Given the description of an element on the screen output the (x, y) to click on. 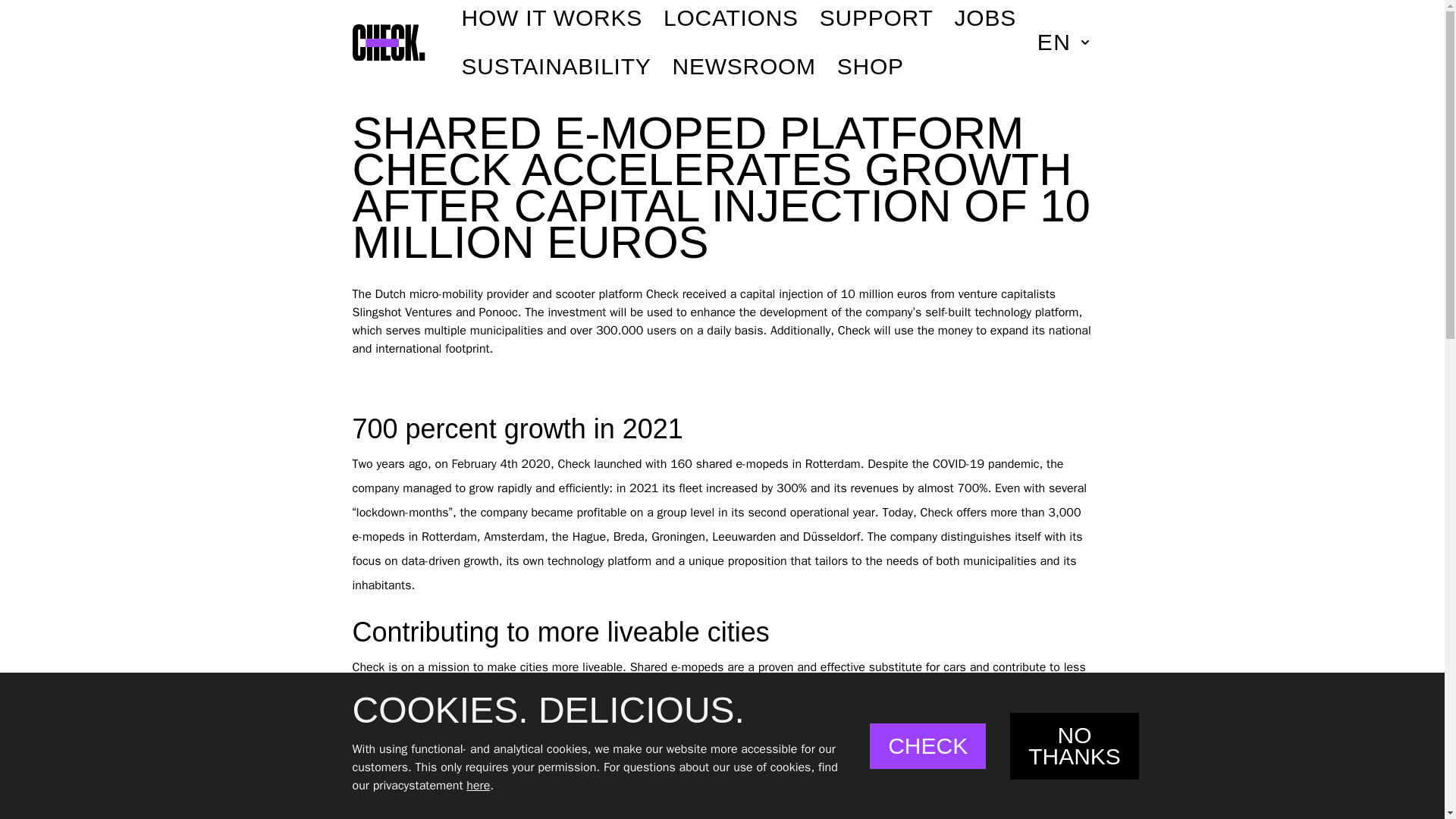
CHECK (927, 746)
EN (1059, 42)
HOW IT WORKS (551, 17)
NEWSROOM (743, 66)
JOBS (985, 17)
NO THANKS (1074, 745)
SUPPORT (876, 17)
SHOP (870, 66)
here (477, 785)
SUSTAINABILITY (555, 66)
